Given the description of an element on the screen output the (x, y) to click on. 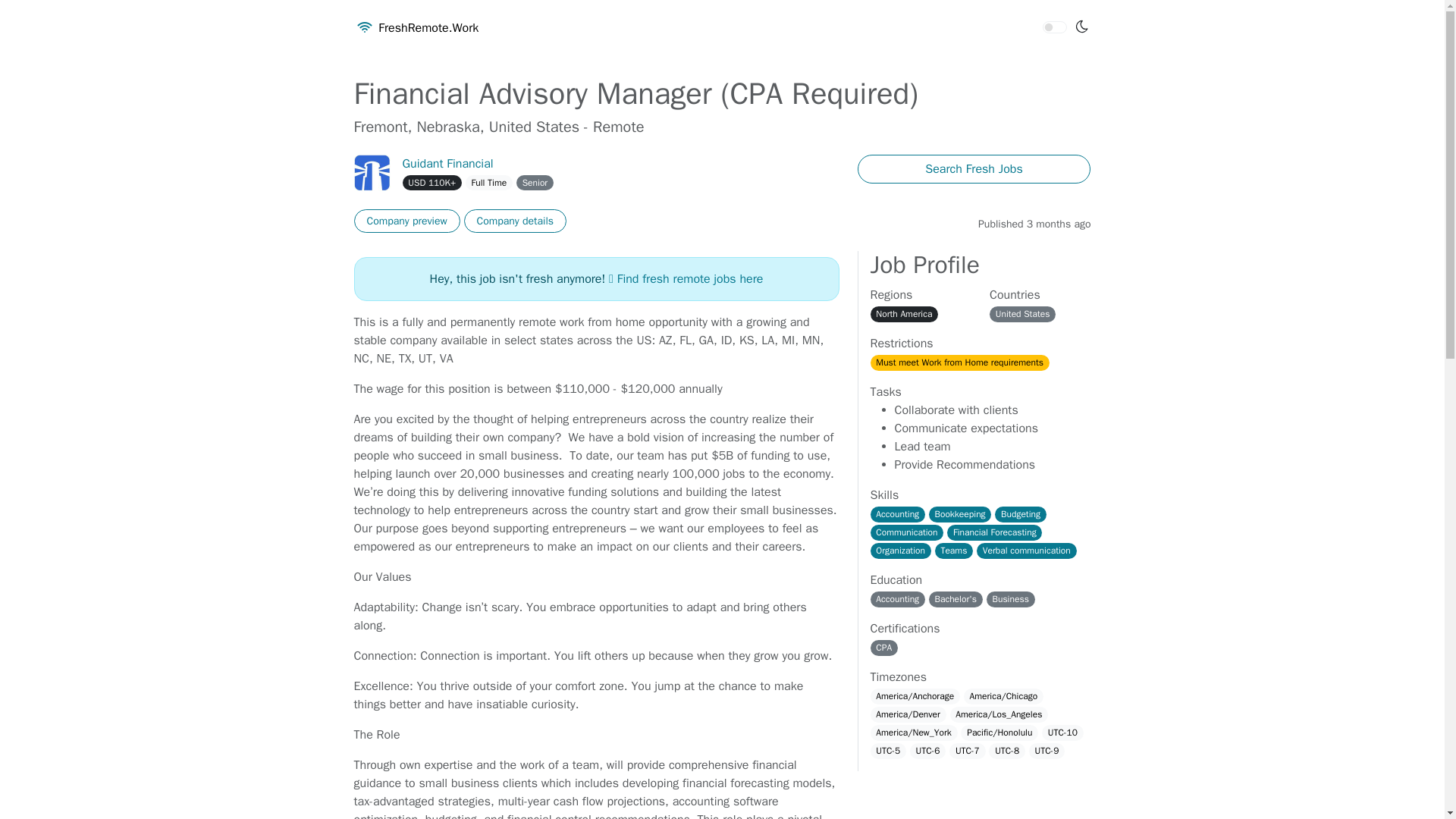
Financial Forecasting (994, 531)
UTC-9 (1047, 750)
Accounting (897, 513)
Communication (906, 531)
Guidant Financial (447, 163)
North America (904, 313)
FreshRemote.Work (416, 28)
Full Time (488, 182)
Company preview (406, 220)
UTC-10 (1062, 732)
Teams (954, 549)
UTC-8 (1006, 750)
CPA (884, 647)
Bachelor's (955, 598)
Verbal communication (1026, 549)
